Given the description of an element on the screen output the (x, y) to click on. 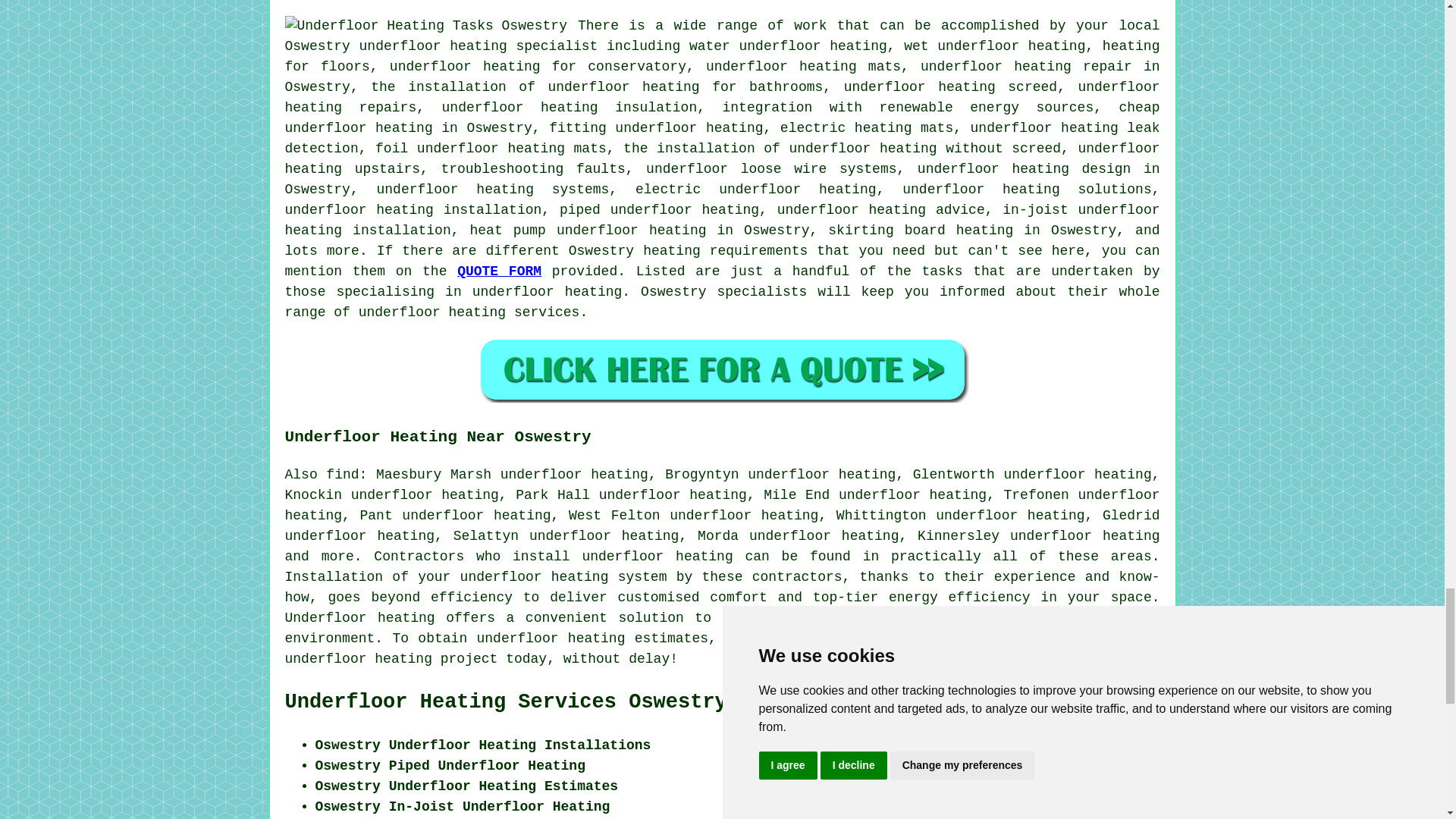
water underfloor heating (787, 46)
underfloor heating specialist (478, 46)
cheap underfloor heating (722, 117)
Underfloor Heating Tasks Oswestry (426, 25)
underfloor heating repairs (722, 97)
